Given the description of an element on the screen output the (x, y) to click on. 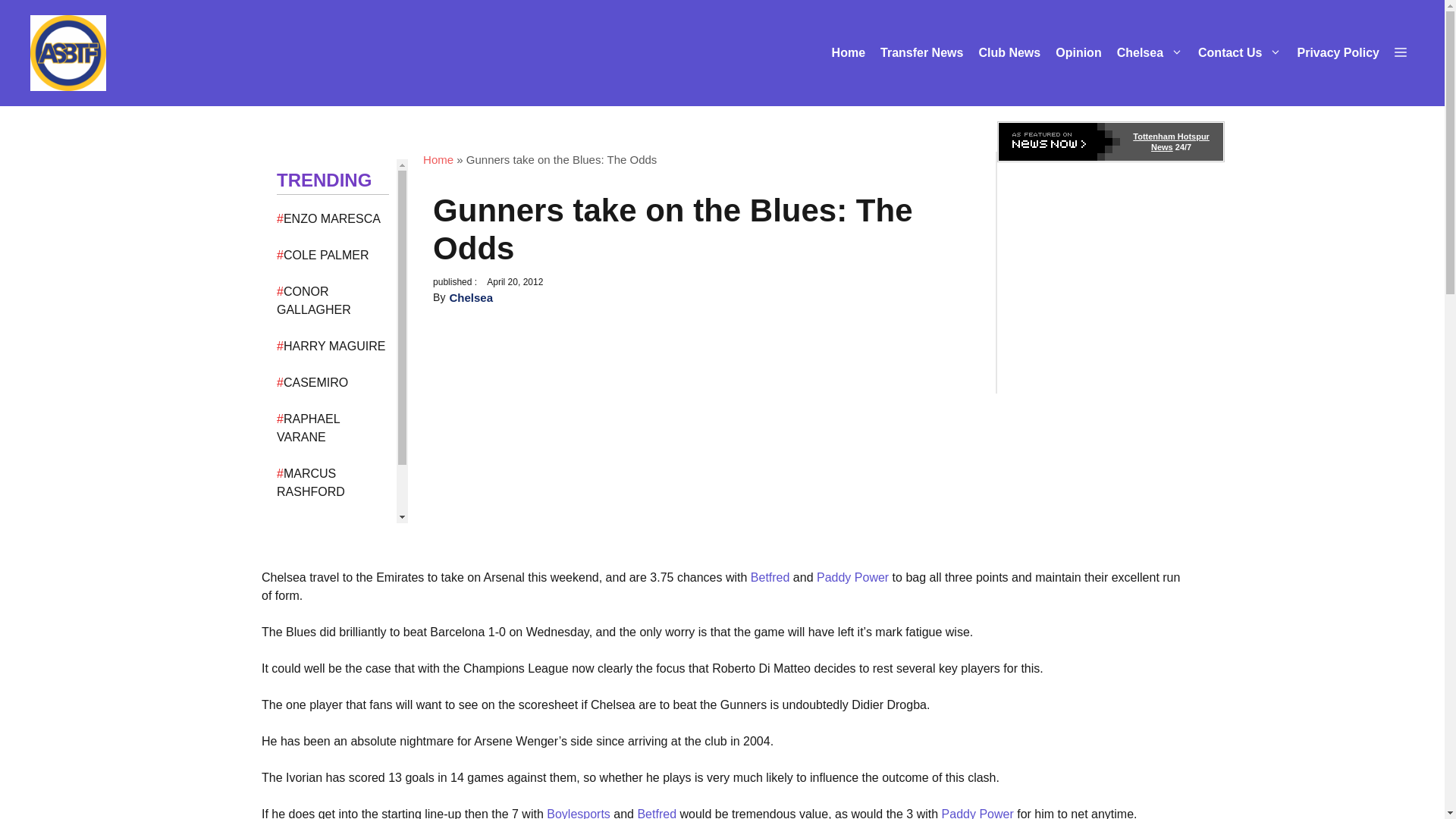
Club News (1009, 52)
ENZO MARESCA (331, 218)
Chelsea (1150, 52)
COLE PALMER (326, 254)
Click here for more Tottenham Hotspur news from NewsNow (1110, 141)
Transfer News (921, 52)
CONOR GALLAGHER (313, 300)
Privacy Policy (1337, 52)
Opinion (1078, 52)
Contact Us (1239, 52)
